Given the description of an element on the screen output the (x, y) to click on. 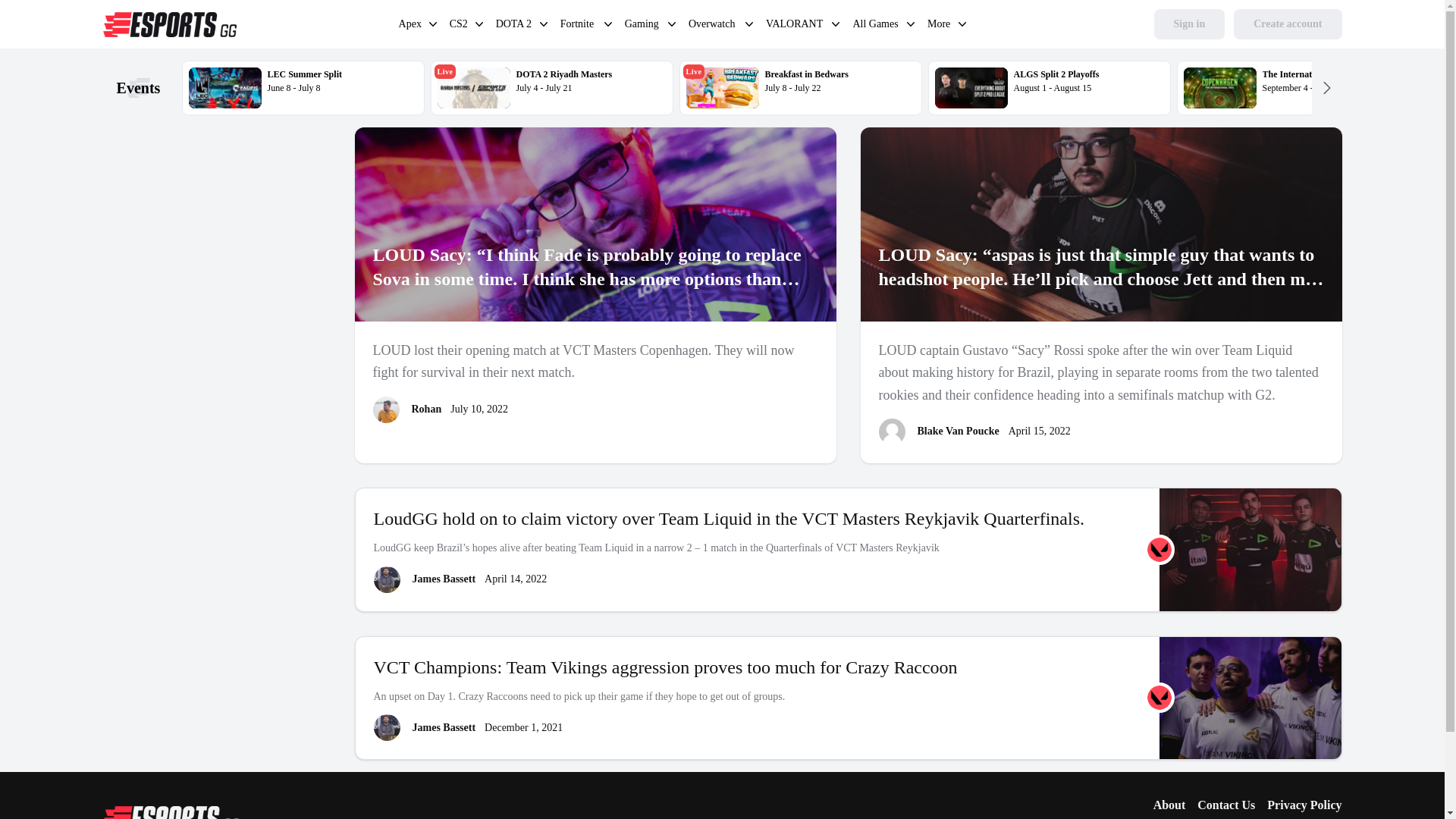
Gaming (642, 25)
Sign in (1189, 24)
Fortnite (578, 25)
About (1169, 805)
More (939, 25)
CS2 (458, 25)
Overwatch (713, 25)
Overwatch (551, 87)
CS2 (713, 25)
Fortnite (458, 25)
Apex (578, 25)
DOTA 2 (410, 25)
Gaming (514, 25)
